Given the description of an element on the screen output the (x, y) to click on. 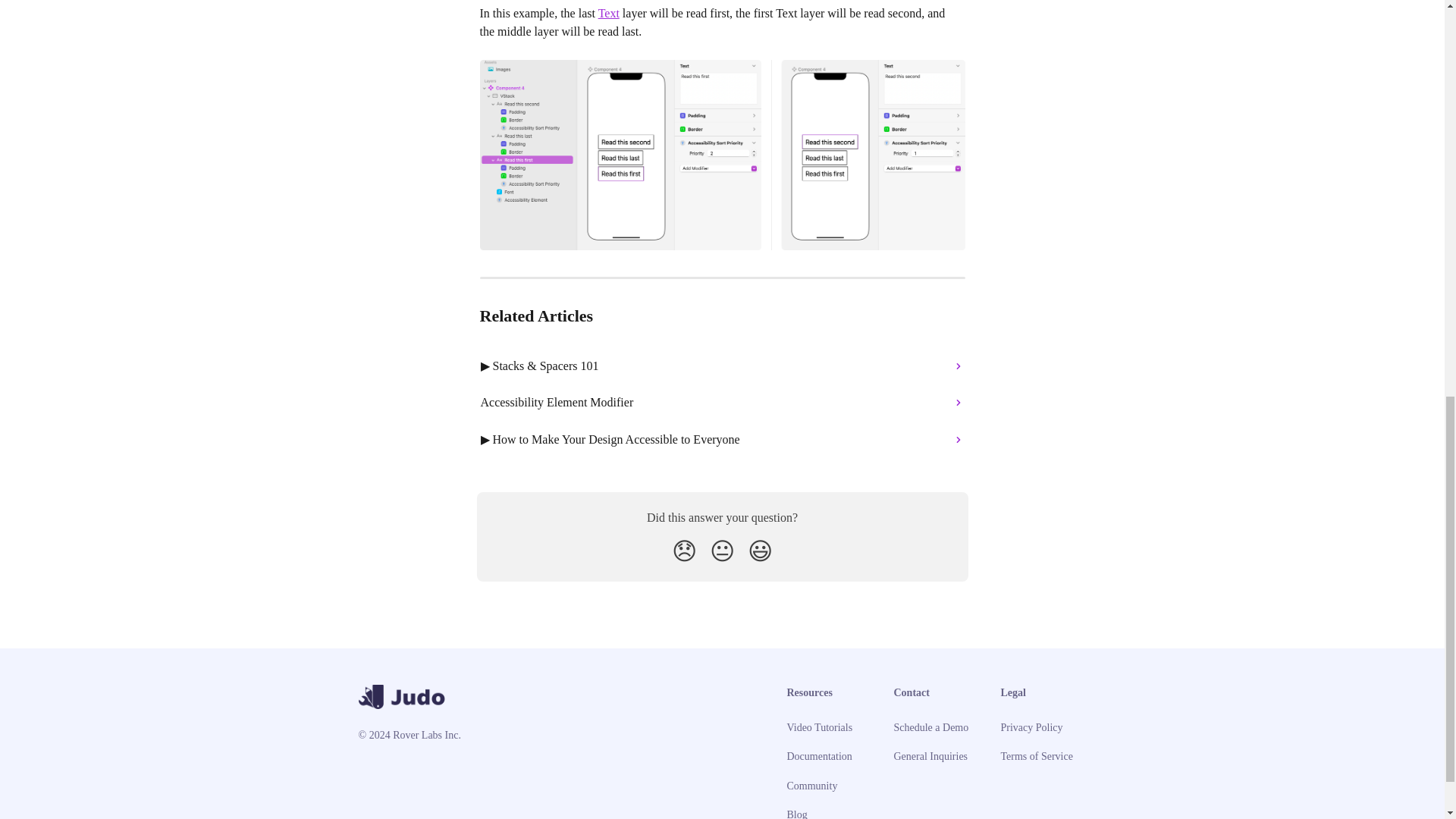
Privacy Policy (1031, 727)
Blog (797, 814)
Accessibility Element Modifier (722, 402)
Video Tutorials (820, 727)
Documentation (819, 756)
Smiley (760, 551)
Community (812, 785)
Terms of Service (1037, 756)
Text (609, 12)
We run on Intercom (410, 817)
Neutral (722, 551)
Schedule a Demo (930, 727)
Disappointed (684, 551)
General Inquiries (930, 756)
